Given the description of an element on the screen output the (x, y) to click on. 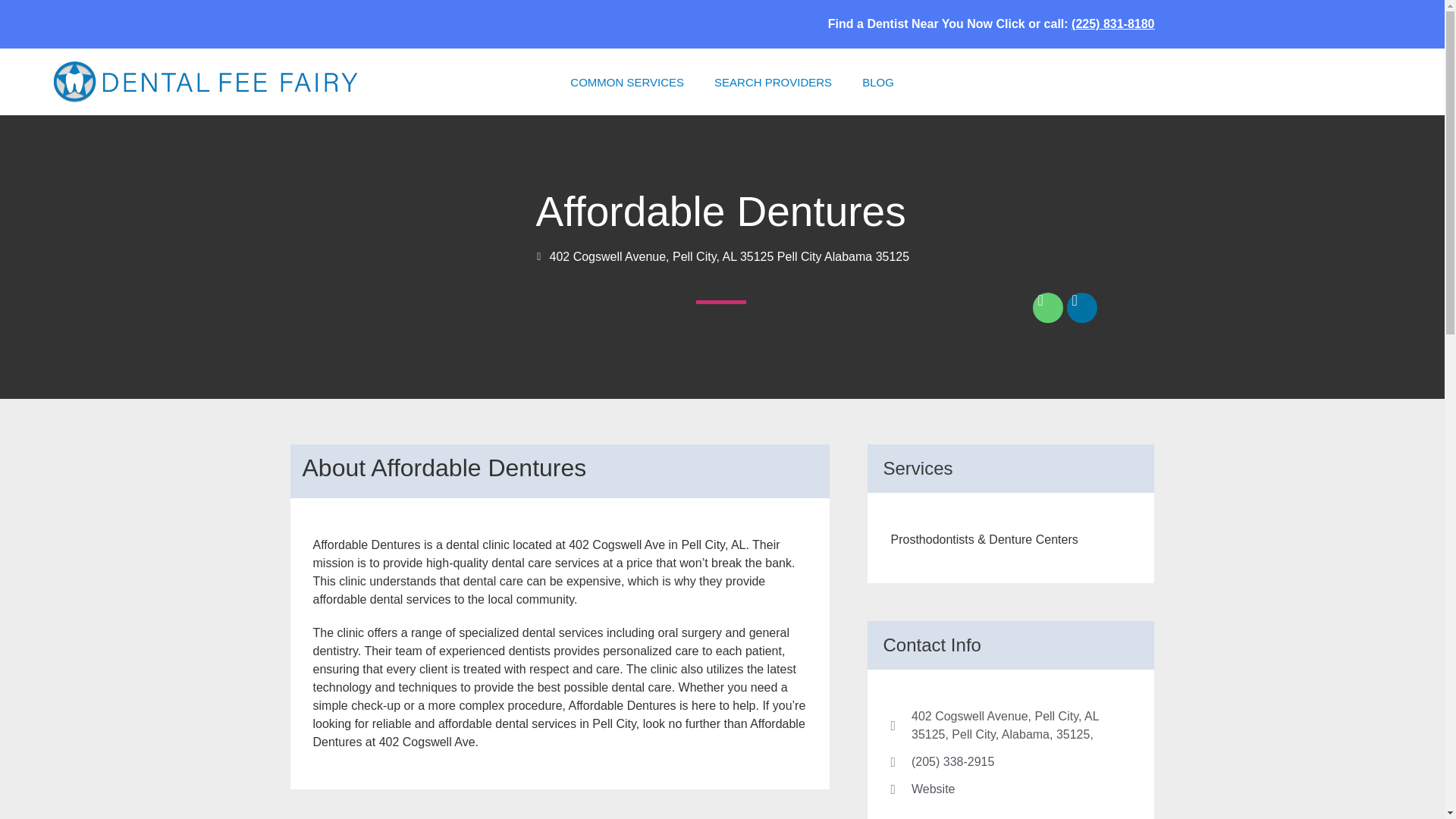
COMMON SERVICES (626, 82)
Website (1010, 789)
SEARCH PROVIDERS (772, 82)
BLOG (877, 82)
